Given the description of an element on the screen output the (x, y) to click on. 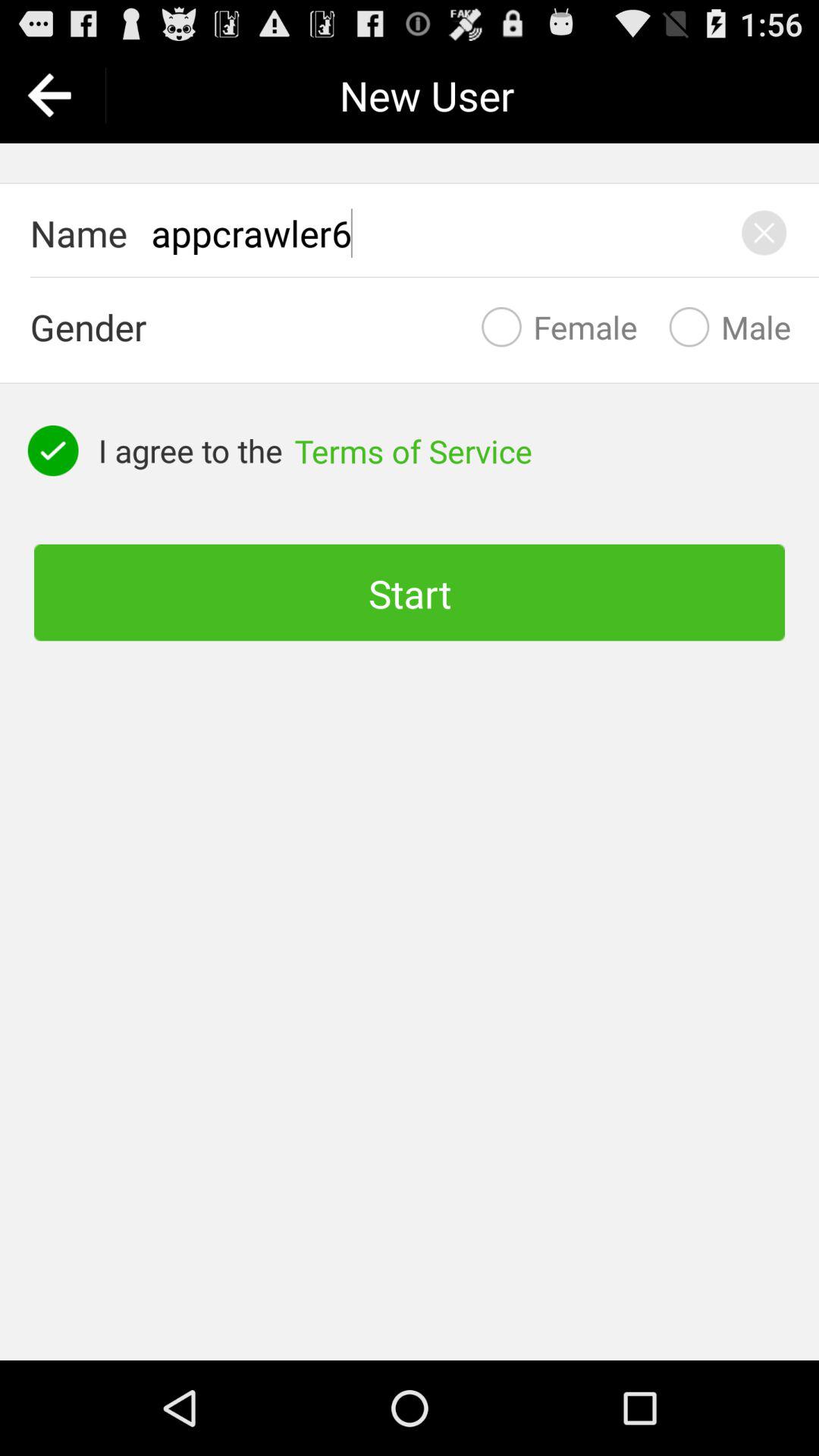
close screen (764, 233)
